Given the description of an element on the screen output the (x, y) to click on. 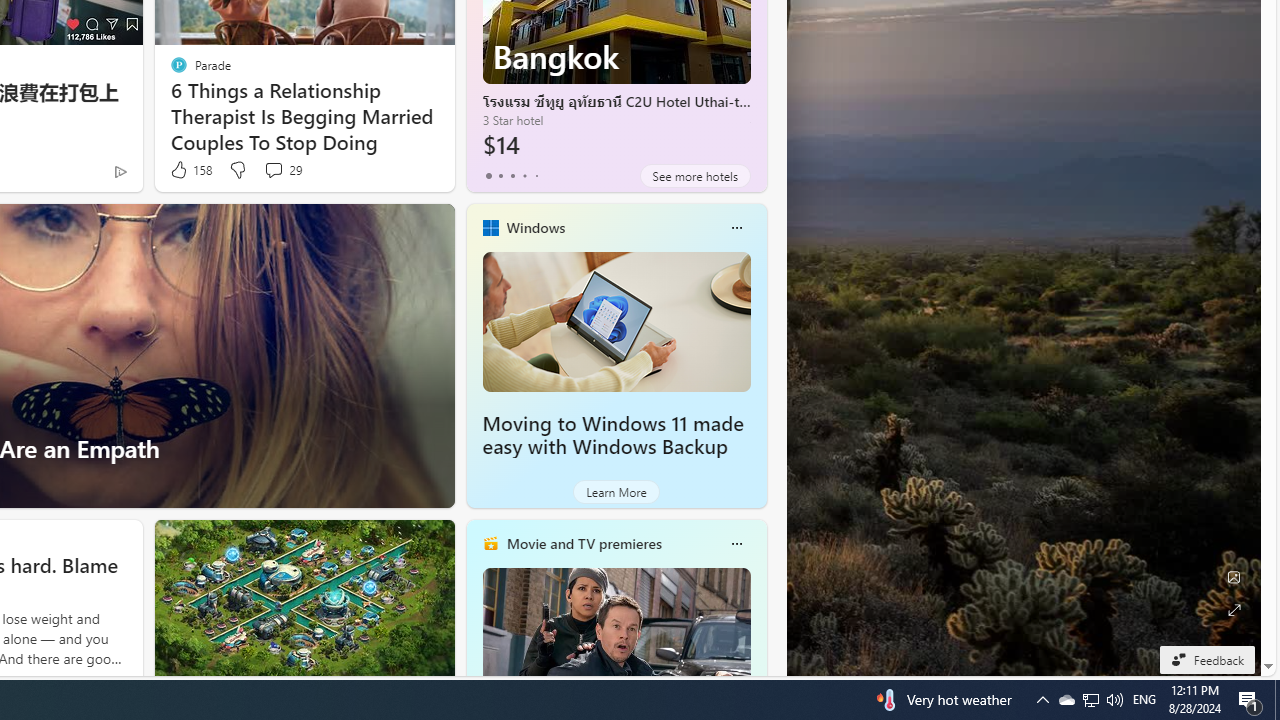
Movie and TV premieres (583, 543)
Edit Background (1233, 577)
Learn More (616, 491)
